Given the description of an element on the screen output the (x, y) to click on. 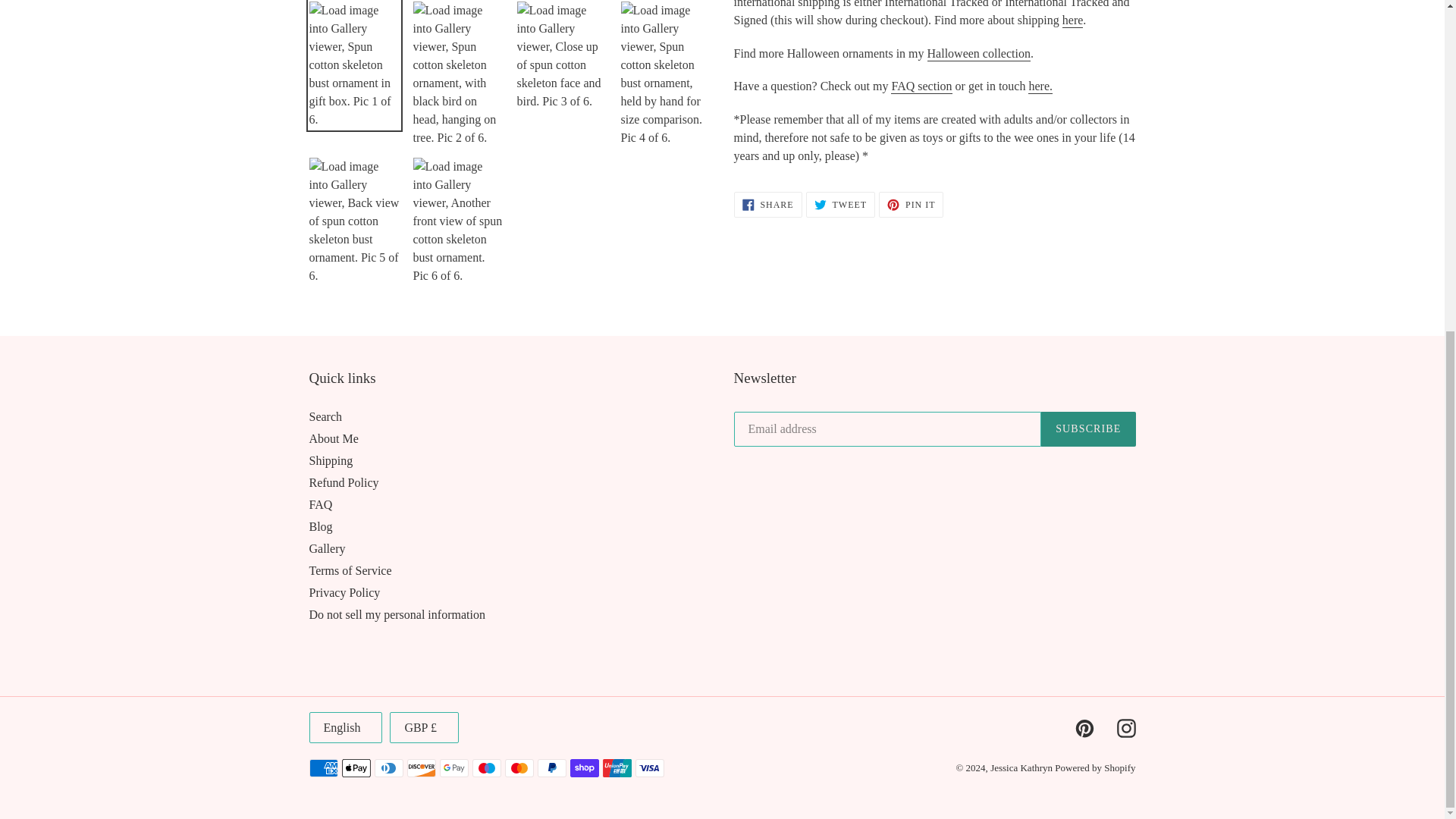
spun cotton ornaments shipping (1072, 20)
jessica kathryn art FAQ (921, 86)
spun cotton Halloween ornaments (978, 53)
jessica kathryn art contact (1039, 86)
